Given the description of an element on the screen output the (x, y) to click on. 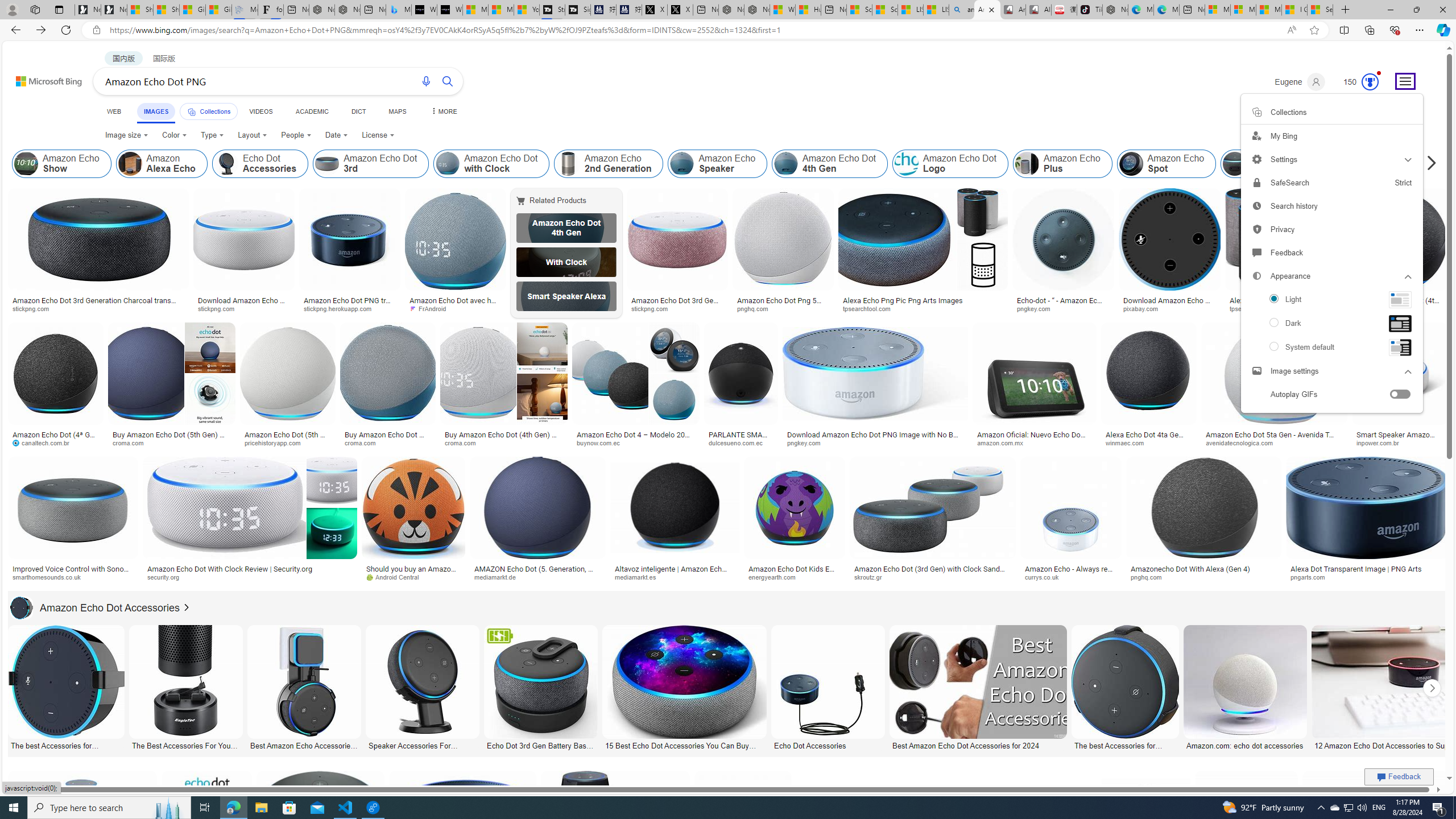
Smart Speaker Alexa Echo Dot (565, 296)
currys.co.uk (1046, 576)
Amazon Echo Dot 3 (1278, 163)
Click to scroll right (1431, 687)
Amazonecho Dot With Alexa (Gen 4) (1190, 568)
Amazon Echo Dot Accessories (21, 607)
inpower.com.br (1399, 442)
